Given the description of an element on the screen output the (x, y) to click on. 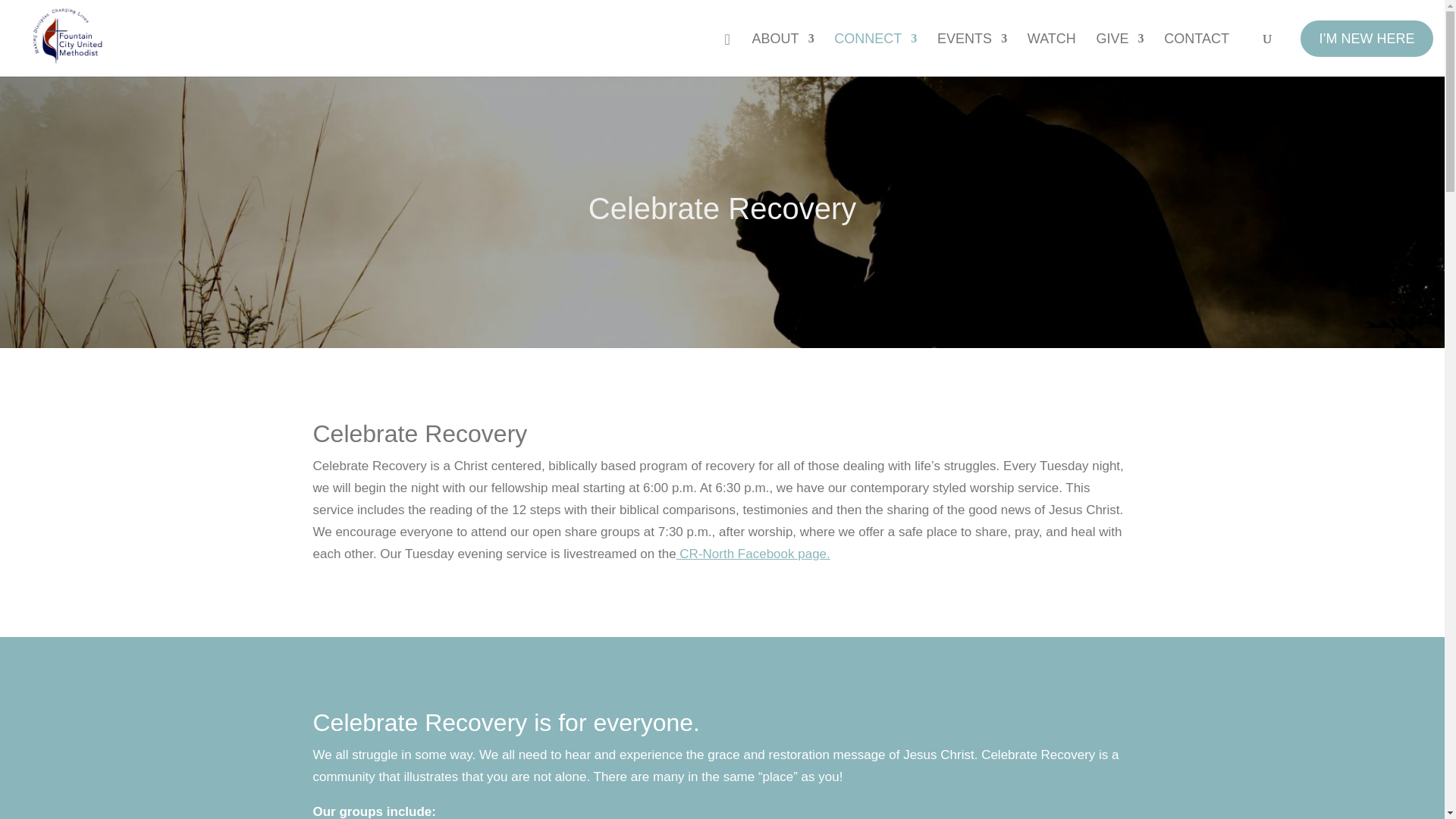
CONTACT (1195, 54)
GIVE (1120, 54)
Celebrate Recovery North Facebook page (753, 554)
EVENTS (972, 54)
ABOUT (782, 54)
CONNECT (875, 54)
WATCH (1051, 54)
